Given the description of an element on the screen output the (x, y) to click on. 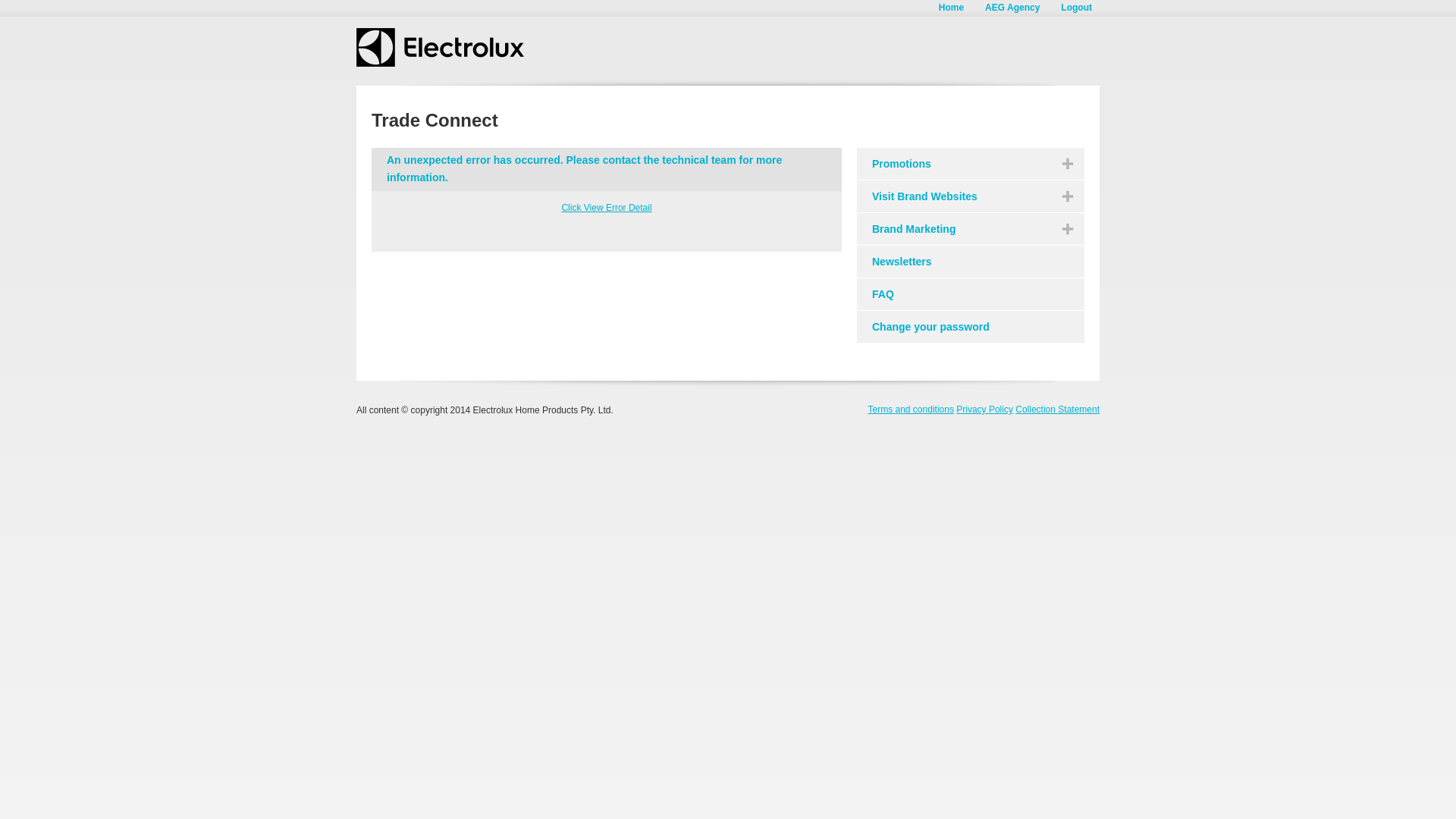
Terms and conditions Element type: text (910, 409)
Logout Element type: text (1076, 8)
Collection Statement Element type: text (1057, 409)
Promotions Element type: text (970, 163)
Change your password Element type: text (970, 326)
Newsletters Element type: text (970, 261)
Privacy Policy Element type: text (984, 409)
Home Element type: text (951, 8)
AEG Agency Element type: text (1012, 8)
Click View Error Detail Element type: text (606, 213)
FAQ Element type: text (970, 294)
Visit Brand Websites Element type: text (970, 196)
Brand Marketing Element type: text (970, 228)
